Given the description of an element on the screen output the (x, y) to click on. 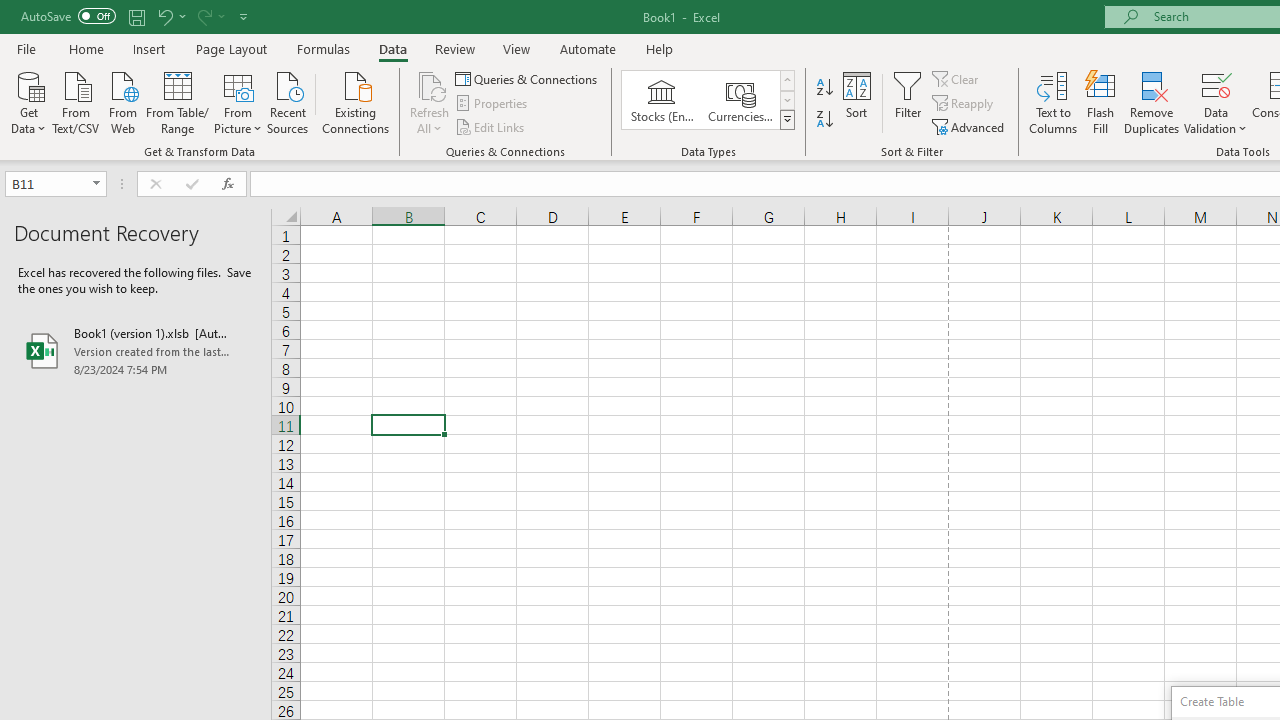
Flash Fill (1101, 102)
Queries & Connections (527, 78)
Existing Connections (355, 101)
Filter (908, 102)
From Web (122, 101)
From Table/Range (177, 101)
Advanced... (970, 126)
From Text/CSV (75, 101)
From Picture (238, 101)
Sort Z to A (824, 119)
Recent Sources (287, 101)
